Given the description of an element on the screen output the (x, y) to click on. 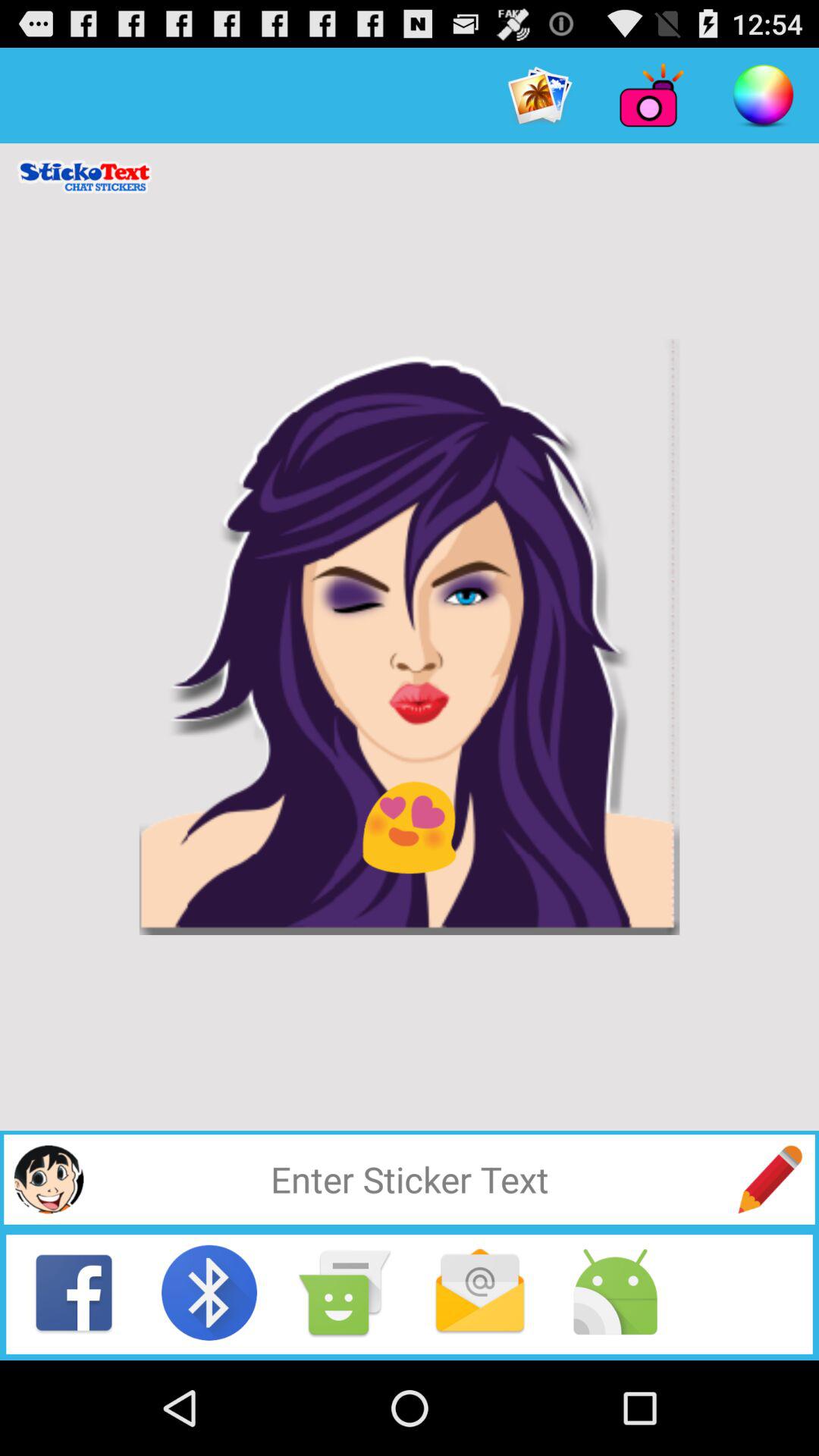
add a sticker (48, 1179)
